Given the description of an element on the screen output the (x, y) to click on. 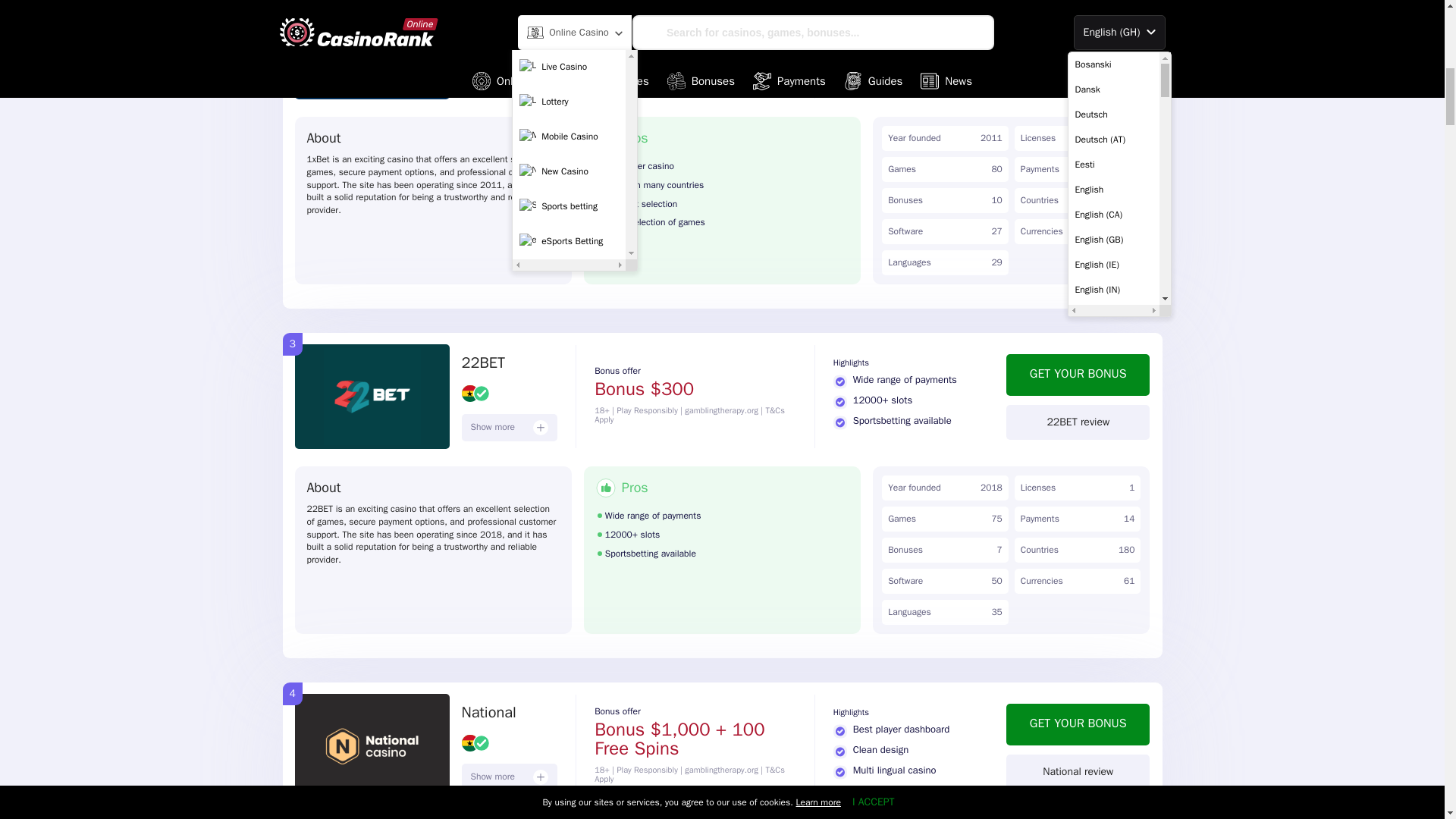
Indonesia (1113, 21)
Hrvatski (1113, 4)
